Given the description of an element on the screen output the (x, y) to click on. 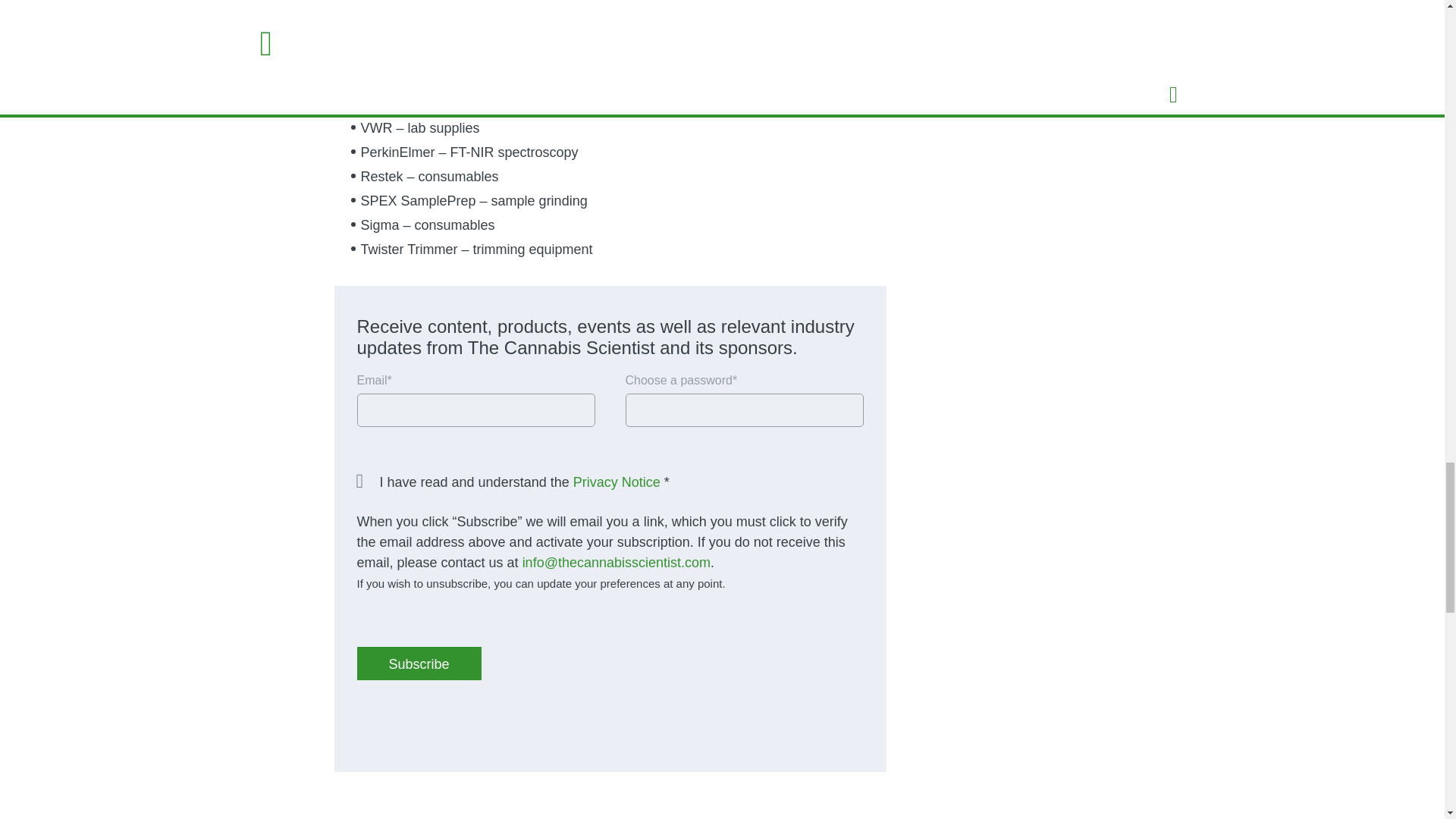
Subscribe (418, 663)
Privacy Notice (617, 482)
Subscribe (418, 663)
